Given the description of an element on the screen output the (x, y) to click on. 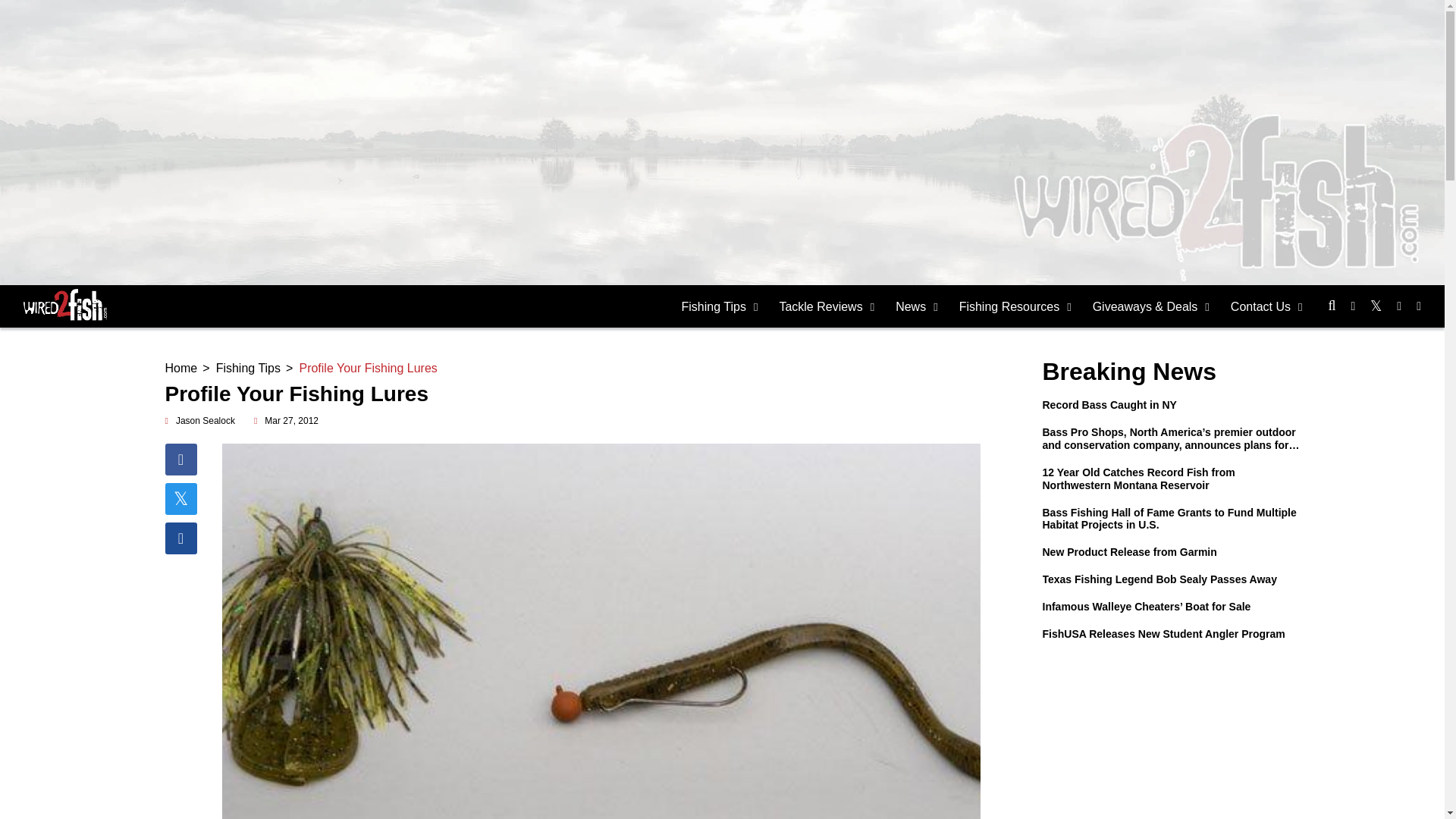
Fishing Tips (719, 306)
